Given the description of an element on the screen output the (x, y) to click on. 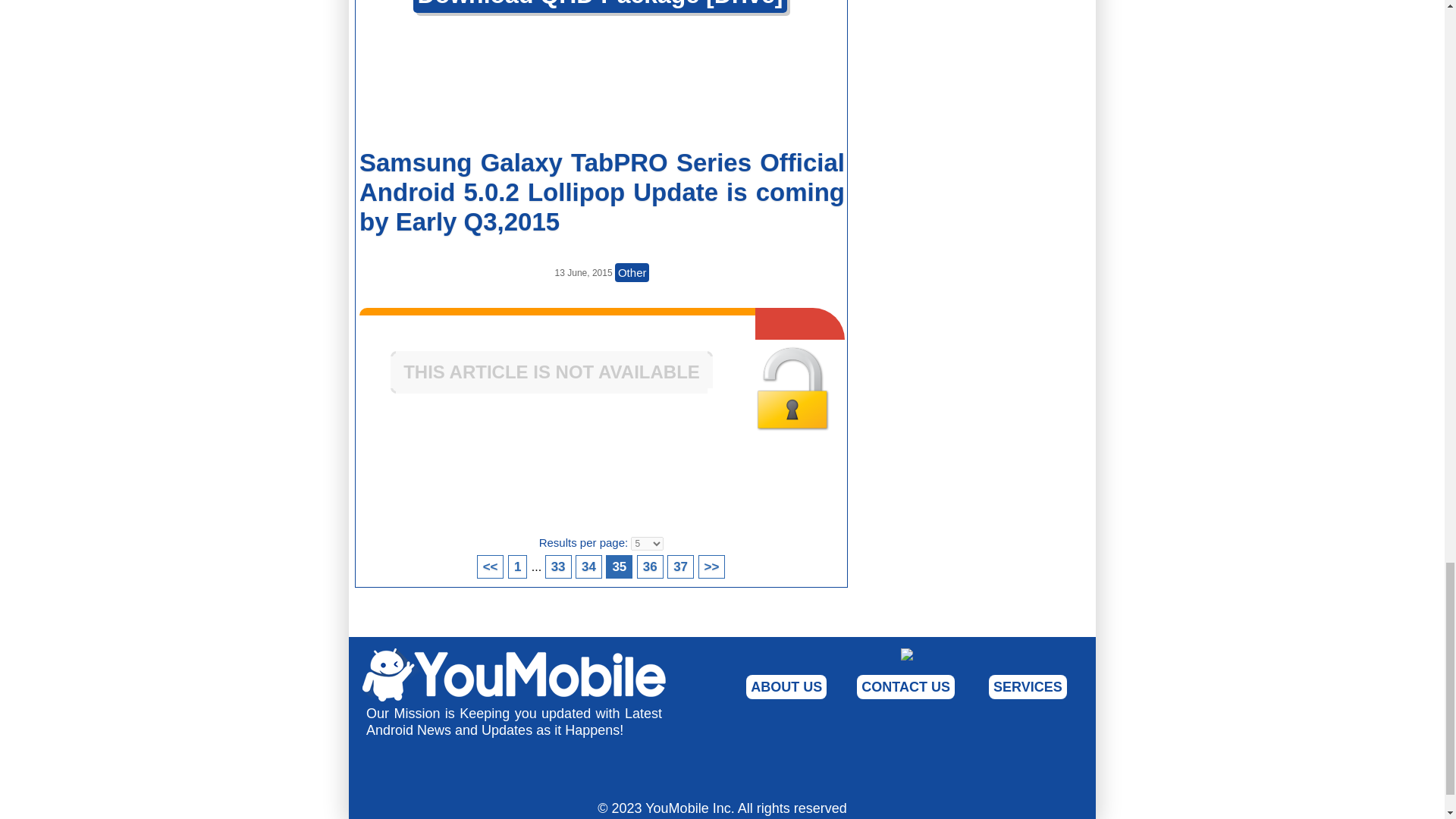
Previous page (490, 566)
33 (558, 566)
Share This Article on Facebook (440, 86)
Share This Article on Twitter (760, 86)
Share This Article on Facebook (440, 489)
Share This Article on Twitter (760, 489)
